Given the description of an element on the screen output the (x, y) to click on. 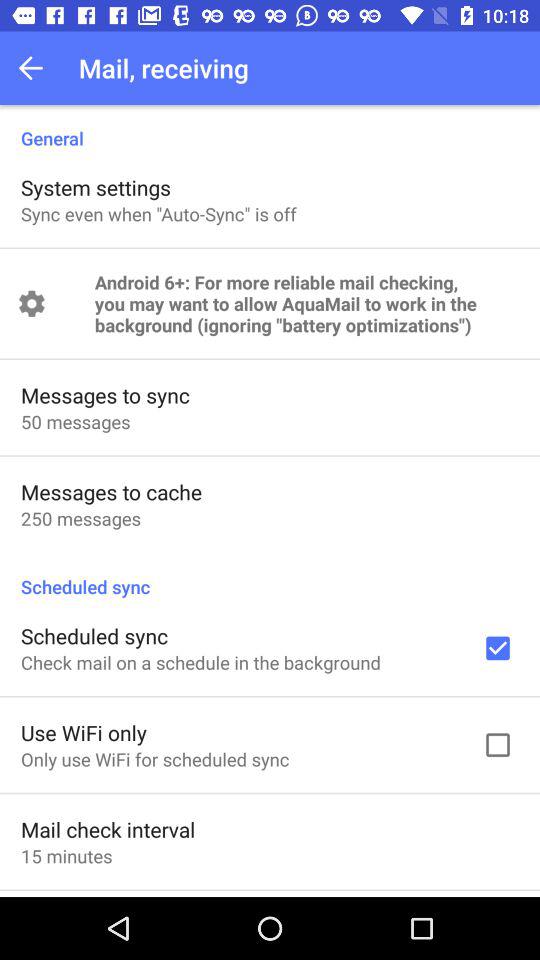
click the icon above the general icon (36, 68)
